Given the description of an element on the screen output the (x, y) to click on. 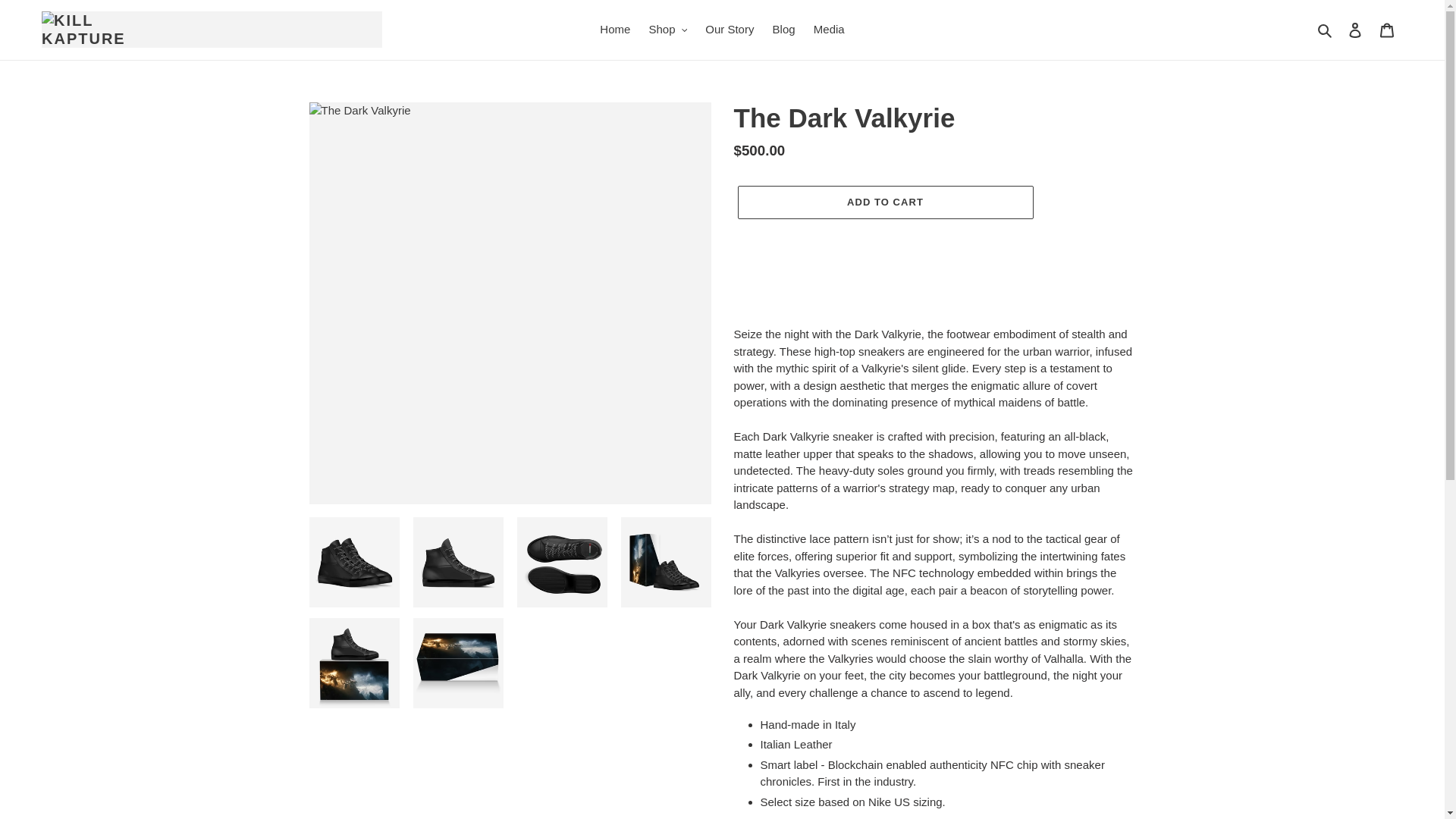
Log in (1355, 29)
Shop (668, 29)
Blog (784, 29)
Cart (1387, 29)
Home (614, 29)
Our Story (729, 29)
Search (1326, 29)
Media (828, 29)
